Given the description of an element on the screen output the (x, y) to click on. 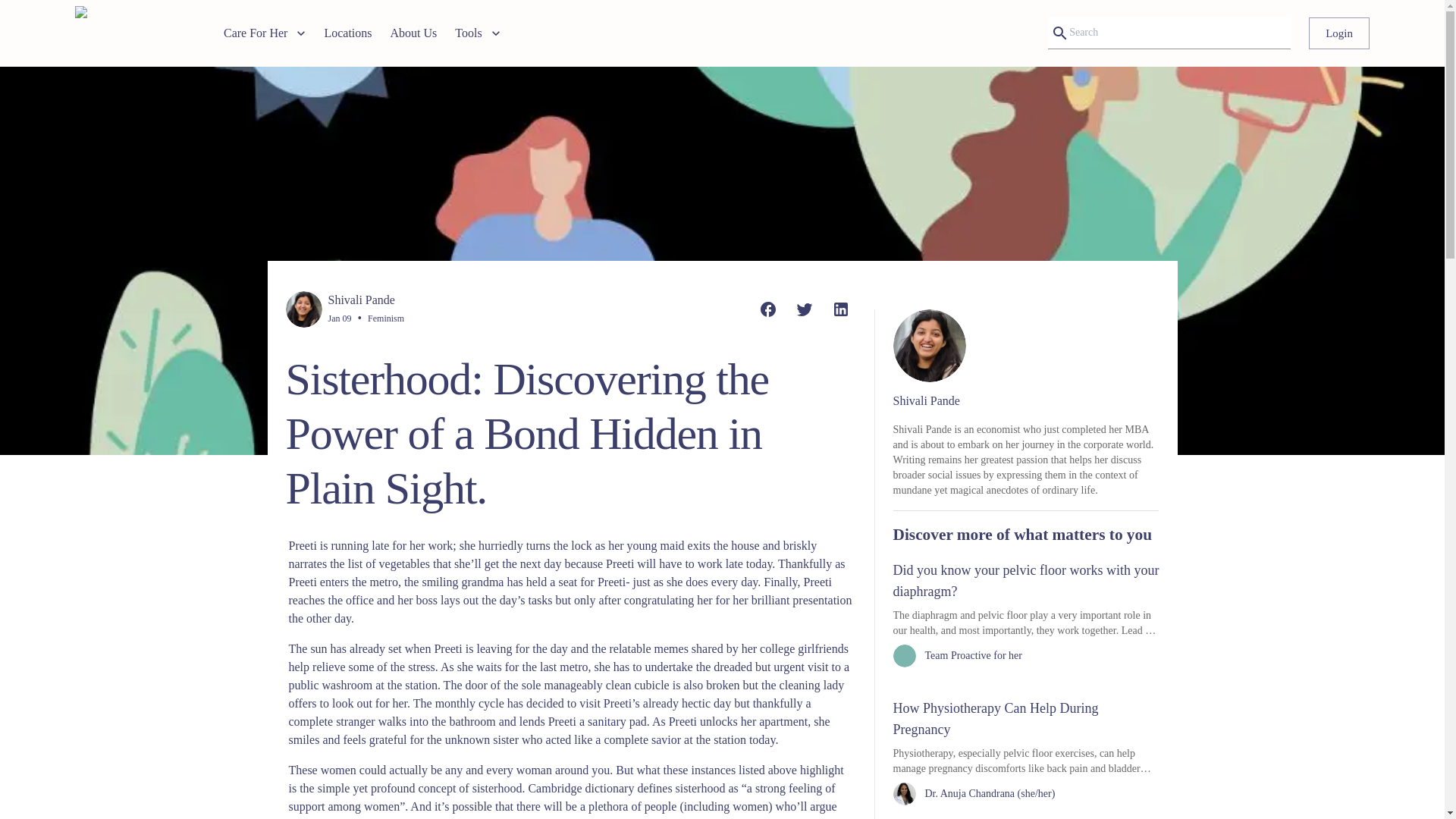
Login (1339, 33)
Locations (347, 33)
About Us (414, 33)
Tools (476, 33)
Care For Her (264, 33)
